Given the description of an element on the screen output the (x, y) to click on. 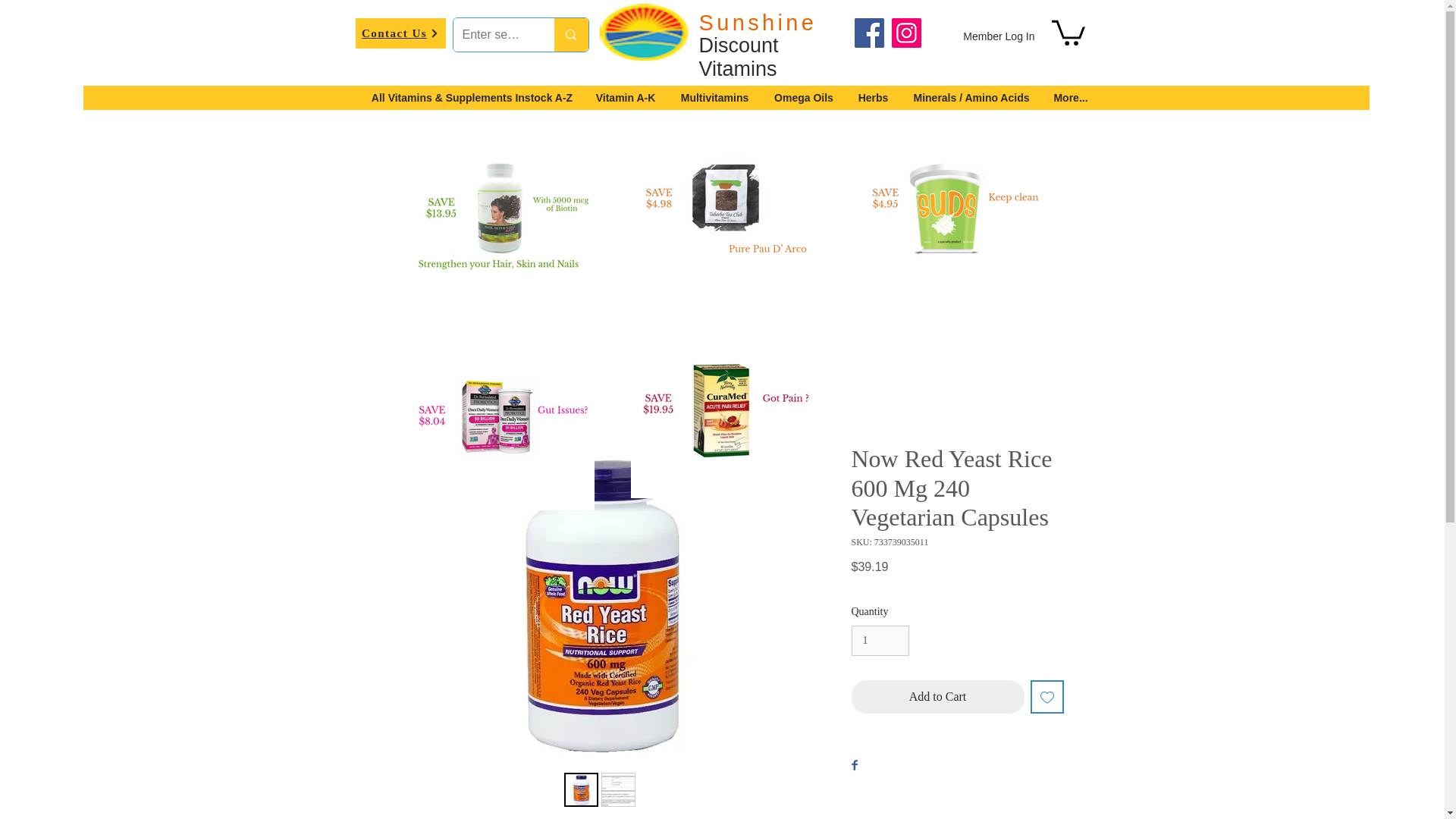
Herbs (873, 97)
Member Log In (998, 36)
1 (879, 640)
Vitamin A-K (625, 97)
Omega Oils (803, 97)
Multivitamins (713, 97)
Add to Cart (936, 696)
Contact Us (400, 33)
